Given the description of an element on the screen output the (x, y) to click on. 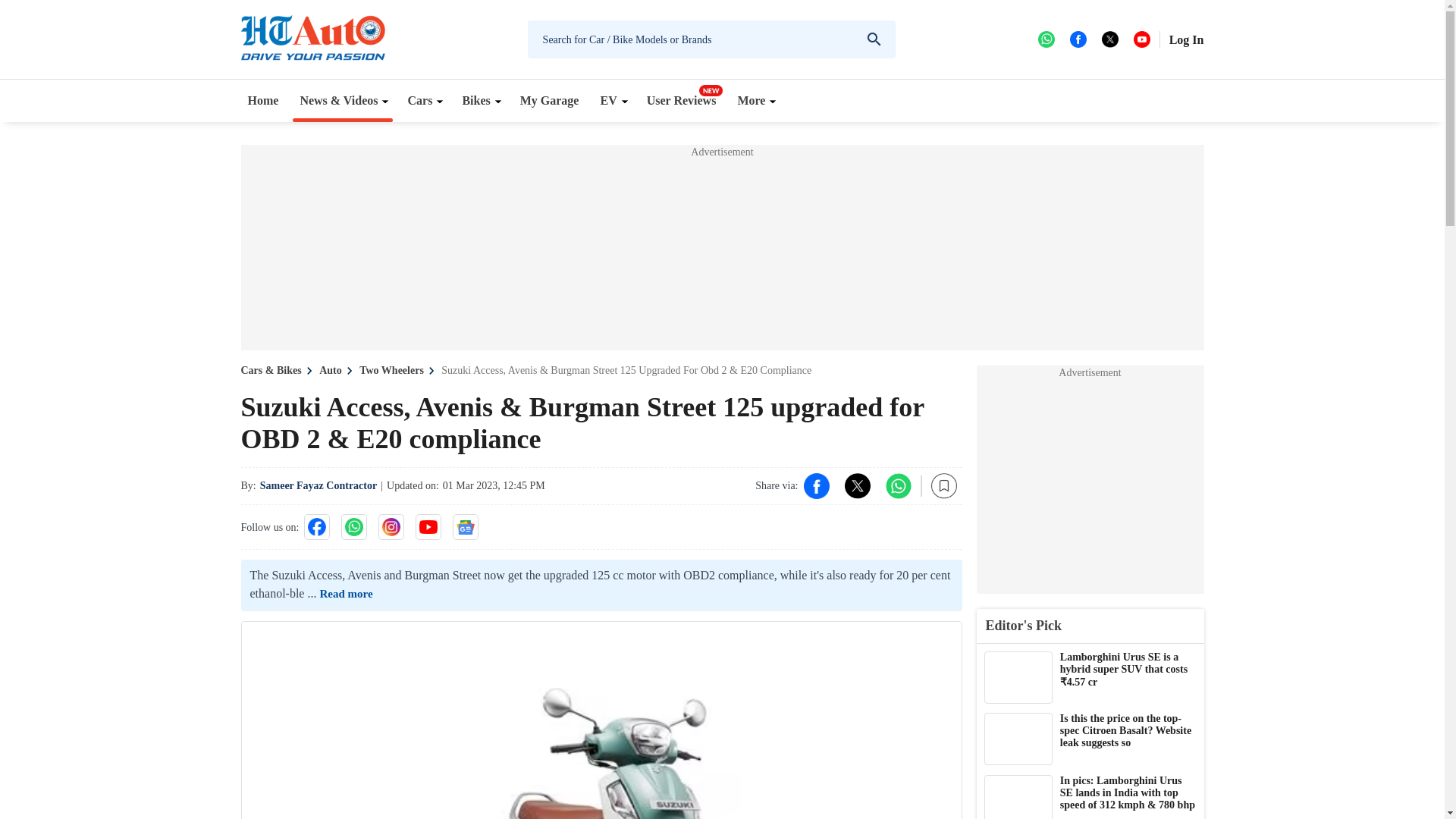
Facebook Share (816, 485)
Log In (1186, 39)
EV (611, 100)
My Garage (549, 100)
Tweet (857, 485)
Home (263, 100)
Bikes (479, 100)
Cars (423, 100)
